Given the description of an element on the screen output the (x, y) to click on. 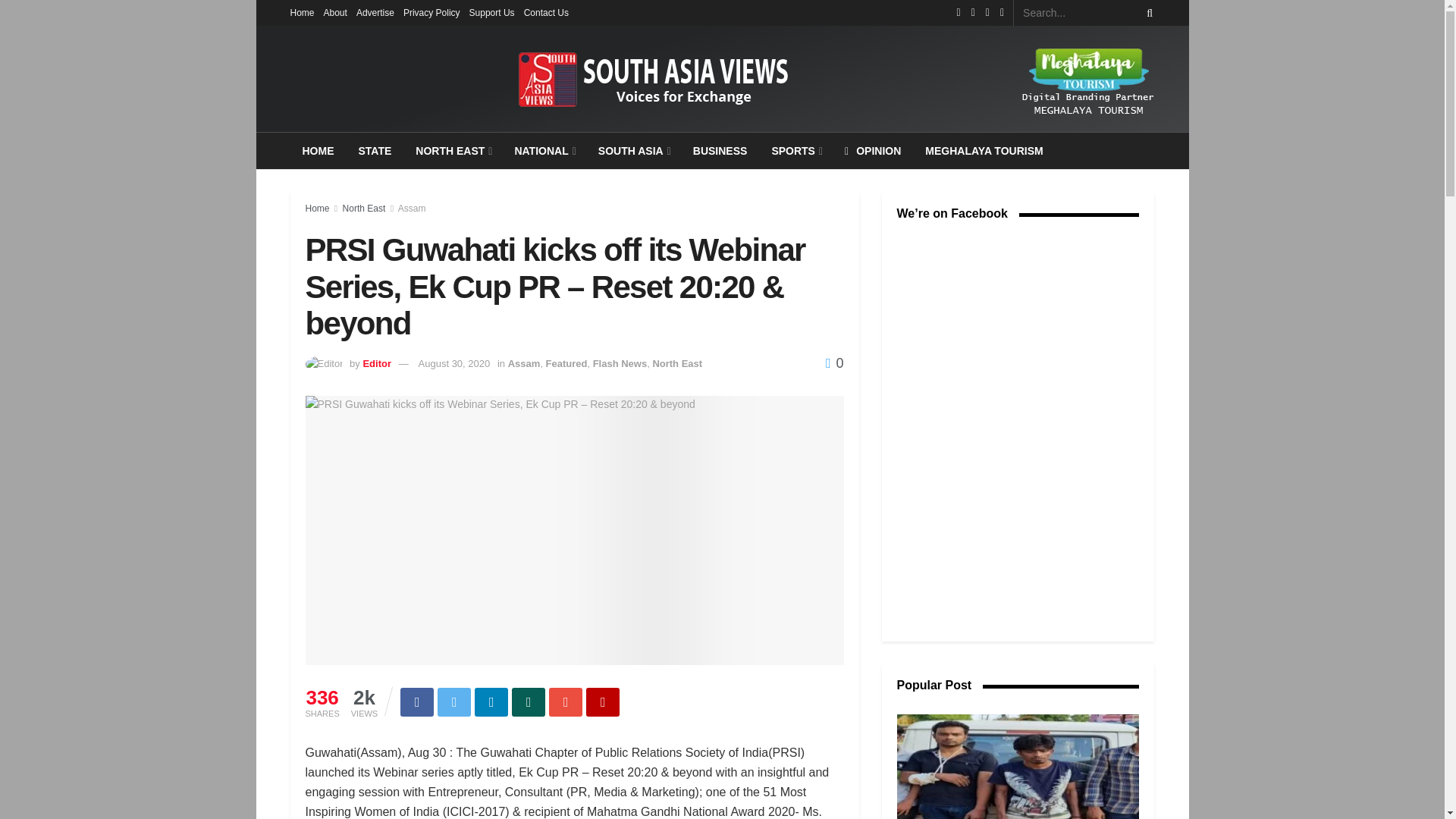
Support Us (491, 12)
Contact Us (546, 12)
About (335, 12)
HOME (317, 150)
STATE (374, 150)
Privacy Policy (431, 12)
Home (301, 12)
NORTH EAST (452, 150)
Advertise (375, 12)
